Given the description of an element on the screen output the (x, y) to click on. 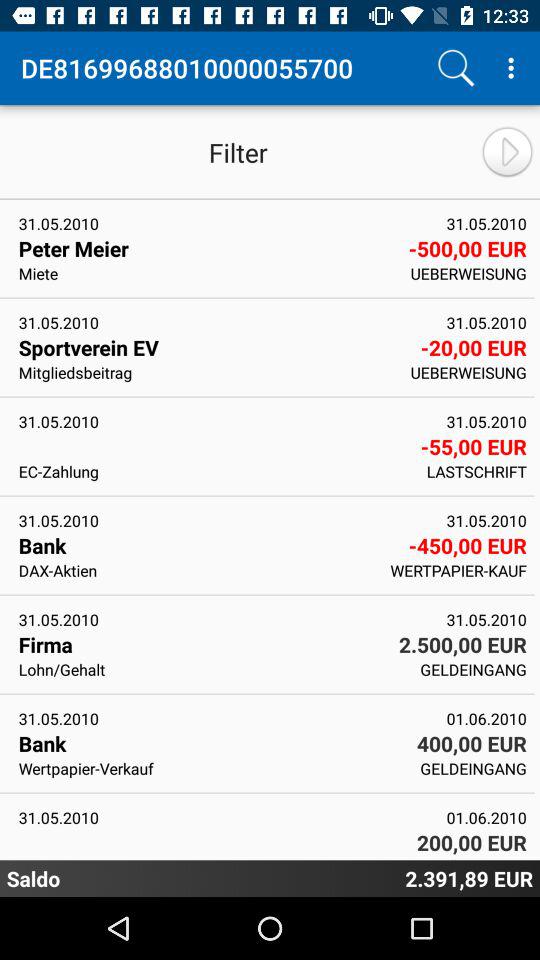
tap the mitgliedsbeitrag app (207, 372)
